Given the description of an element on the screen output the (x, y) to click on. 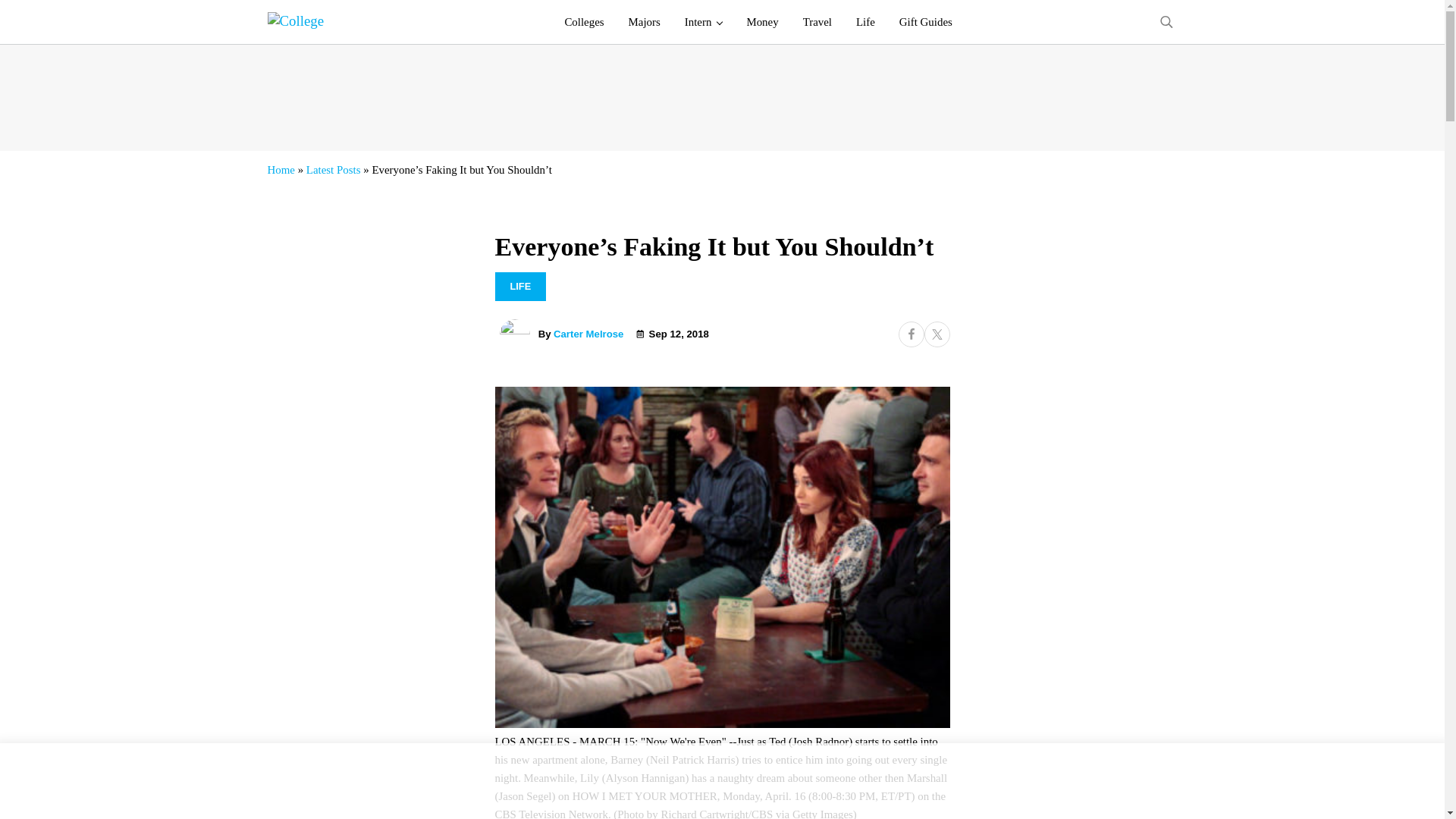
Home (280, 169)
Share on Twitter (936, 334)
Intern (703, 21)
Travel (817, 21)
Colleges (583, 21)
Money (761, 21)
LIFE (520, 286)
Carter Melrose (588, 333)
Share on Facebook (910, 334)
Majors (643, 21)
